Given the description of an element on the screen output the (x, y) to click on. 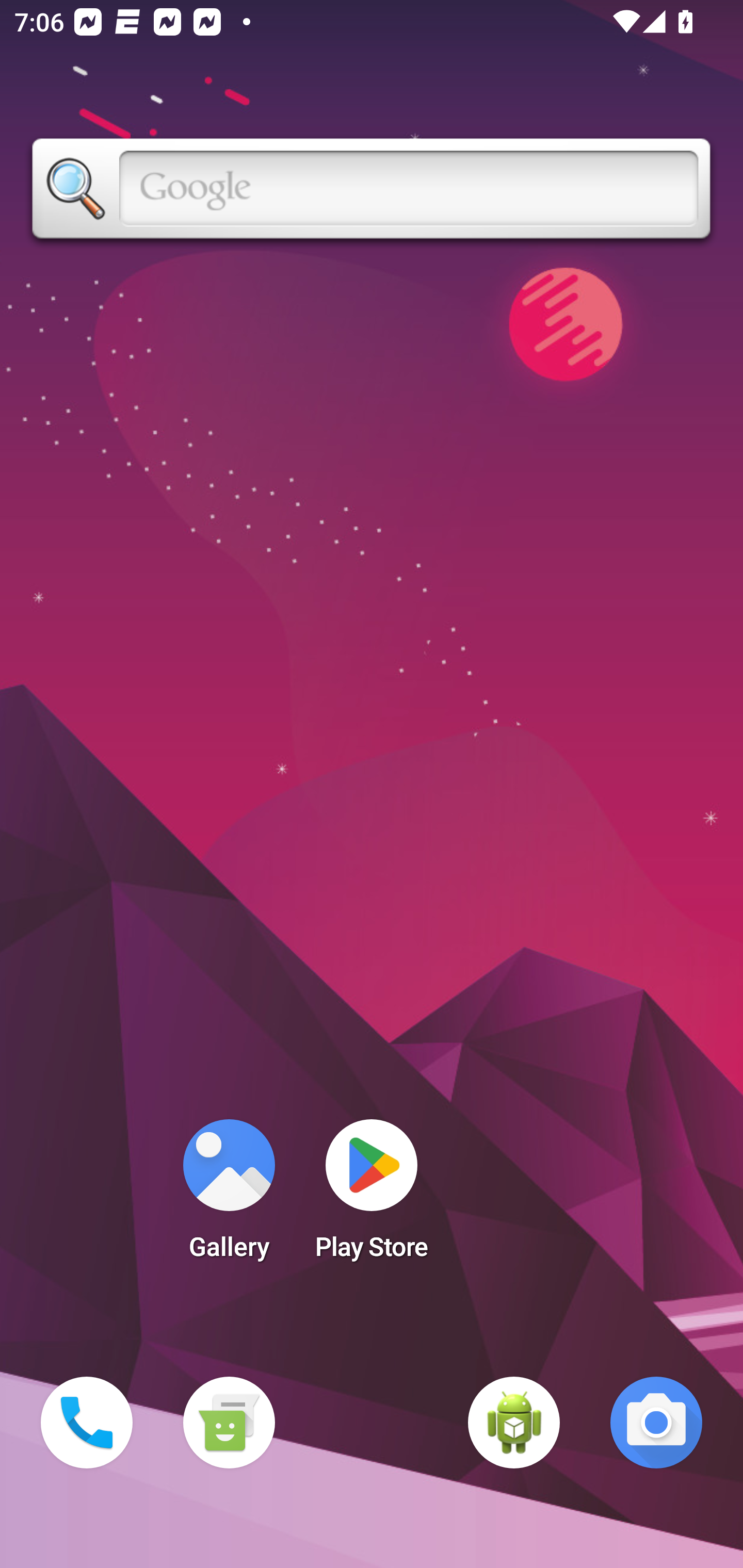
Gallery (228, 1195)
Play Store (371, 1195)
Phone (86, 1422)
Messaging (228, 1422)
WebView Browser Tester (513, 1422)
Camera (656, 1422)
